Given the description of an element on the screen output the (x, y) to click on. 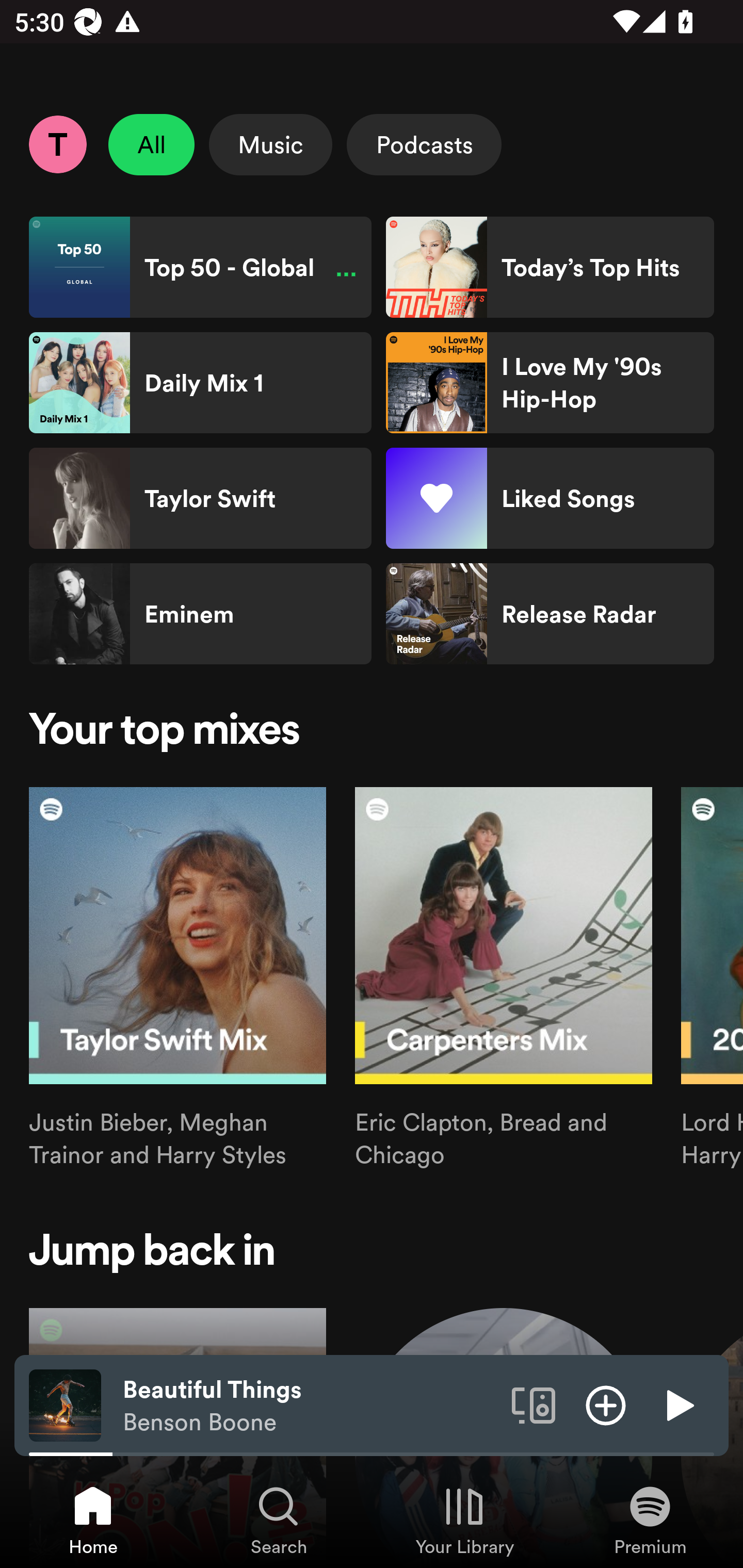
Profile (57, 144)
All Unselect All (151, 144)
Music Select Music (270, 144)
Podcasts Select Podcasts (423, 144)
Top 50 - Global Shortcut Top 50 - Global Paused (199, 267)
Today’s Top Hits Shortcut Today’s Top Hits (549, 267)
Daily Mix 1 Shortcut Daily Mix 1 (199, 382)
Taylor Swift Shortcut Taylor Swift (199, 498)
Liked Songs Shortcut Liked Songs (549, 498)
Eminem Shortcut Eminem (199, 613)
Release Radar Shortcut Release Radar (549, 613)
Beautiful Things Benson Boone (309, 1405)
The cover art of the currently playing track (64, 1404)
Connect to a device. Opens the devices menu (533, 1404)
Add item (605, 1404)
Play (677, 1404)
Home, Tab 1 of 4 Home Home (92, 1519)
Search, Tab 2 of 4 Search Search (278, 1519)
Your Library, Tab 3 of 4 Your Library Your Library (464, 1519)
Premium, Tab 4 of 4 Premium Premium (650, 1519)
